Given the description of an element on the screen output the (x, y) to click on. 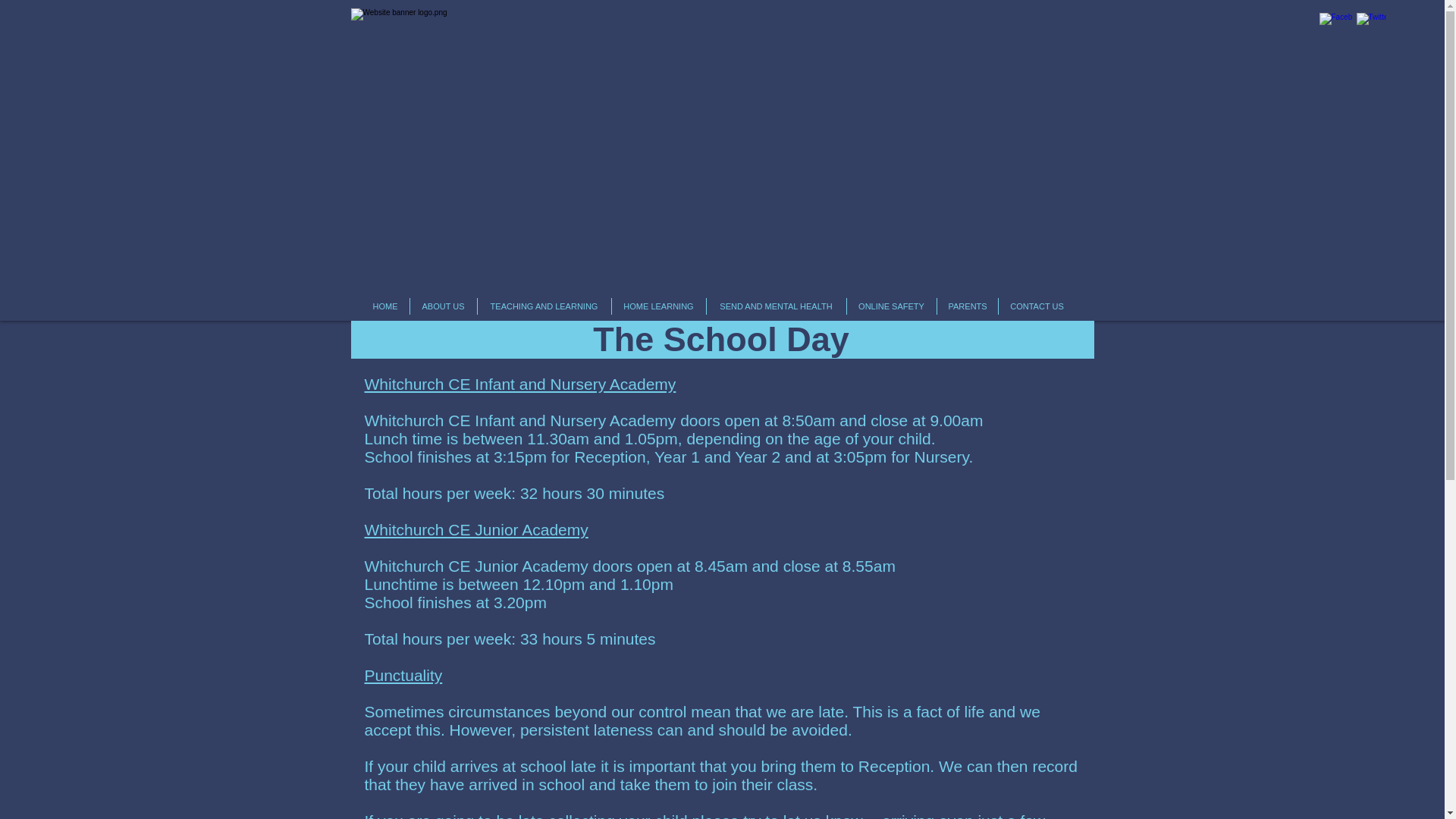
HOME LEARNING (657, 306)
SEND AND MENTAL HEALTH (775, 306)
TEACHING AND LEARNING (544, 306)
PARENTS (967, 306)
ABOUT US (442, 306)
HOME (385, 306)
ONLINE SAFETY (890, 306)
